Given the description of an element on the screen output the (x, y) to click on. 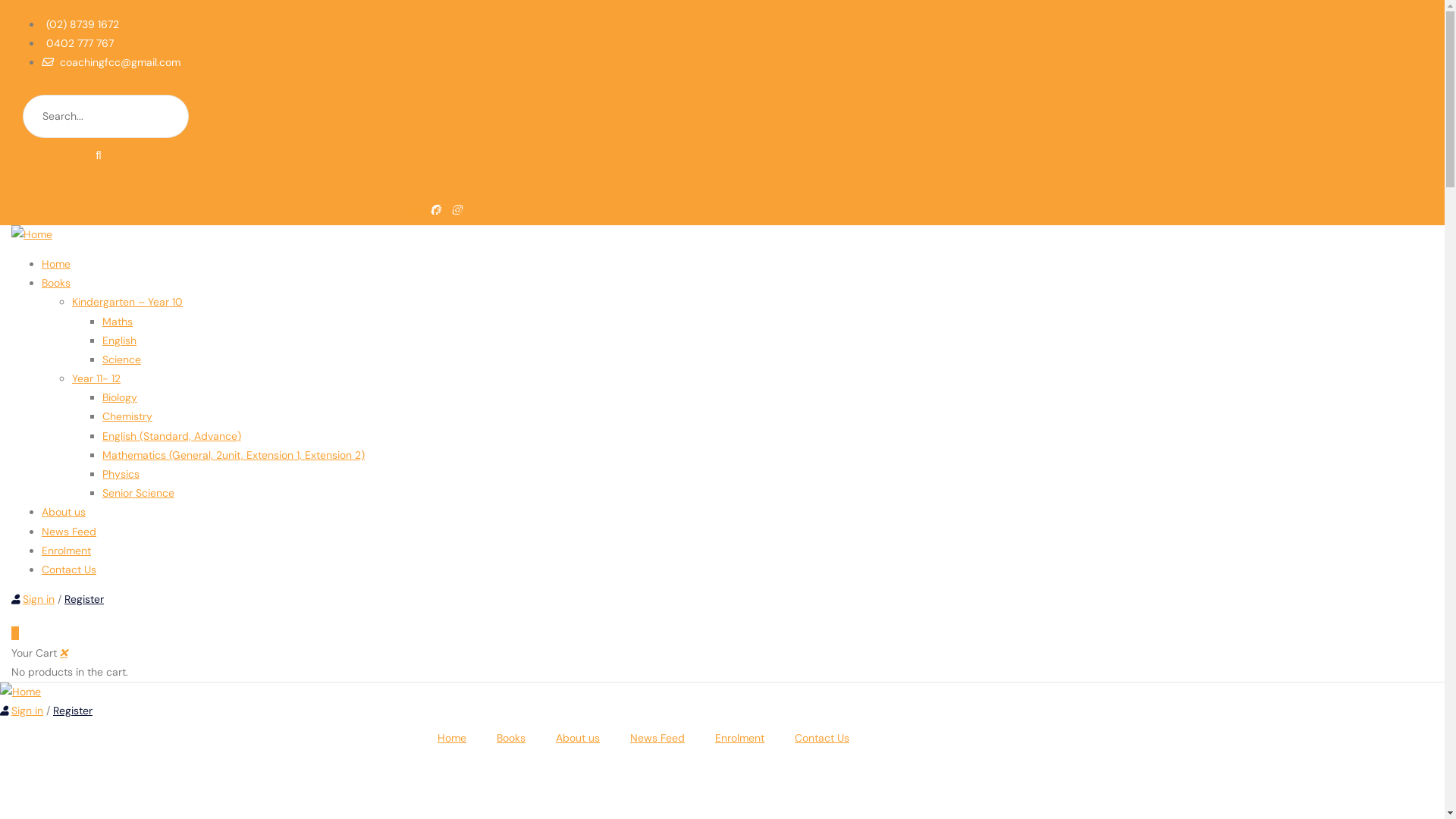
About us Element type: text (577, 737)
News Feed Element type: text (657, 737)
Enrolment Element type: text (66, 550)
Facebook Element type: text (410, 209)
Instagram Element type: text (431, 209)
English (Standard, Advance) Element type: text (171, 435)
Year 11- 12 Element type: text (96, 378)
Sign in Element type: text (38, 598)
(02) 8739 1672 Element type: text (80, 24)
Home Element type: hover (31, 234)
Books Element type: text (510, 737)
0 Element type: text (14, 633)
Register Element type: text (72, 710)
Sign in Element type: text (27, 710)
News Feed Element type: text (68, 531)
Home Element type: text (451, 737)
Mathematics (General, 2unit, Extension 1, Extension 2) Element type: text (233, 454)
Maths Element type: text (117, 320)
Tiktok Element type: text (453, 209)
English Element type: text (119, 340)
Books Element type: text (55, 282)
Physics Element type: text (120, 473)
Home Element type: hover (20, 691)
Enrolment Element type: text (739, 737)
Contact Us Element type: text (68, 569)
Contact Us Element type: text (821, 737)
Biology Element type: text (119, 397)
About us Element type: text (63, 511)
Home Element type: text (55, 263)
Register Element type: text (83, 598)
Chemistry Element type: text (127, 416)
Senior Science Element type: text (138, 492)
Science Element type: text (121, 359)
0402 777 767 Element type: text (77, 43)
